Given the description of an element on the screen output the (x, y) to click on. 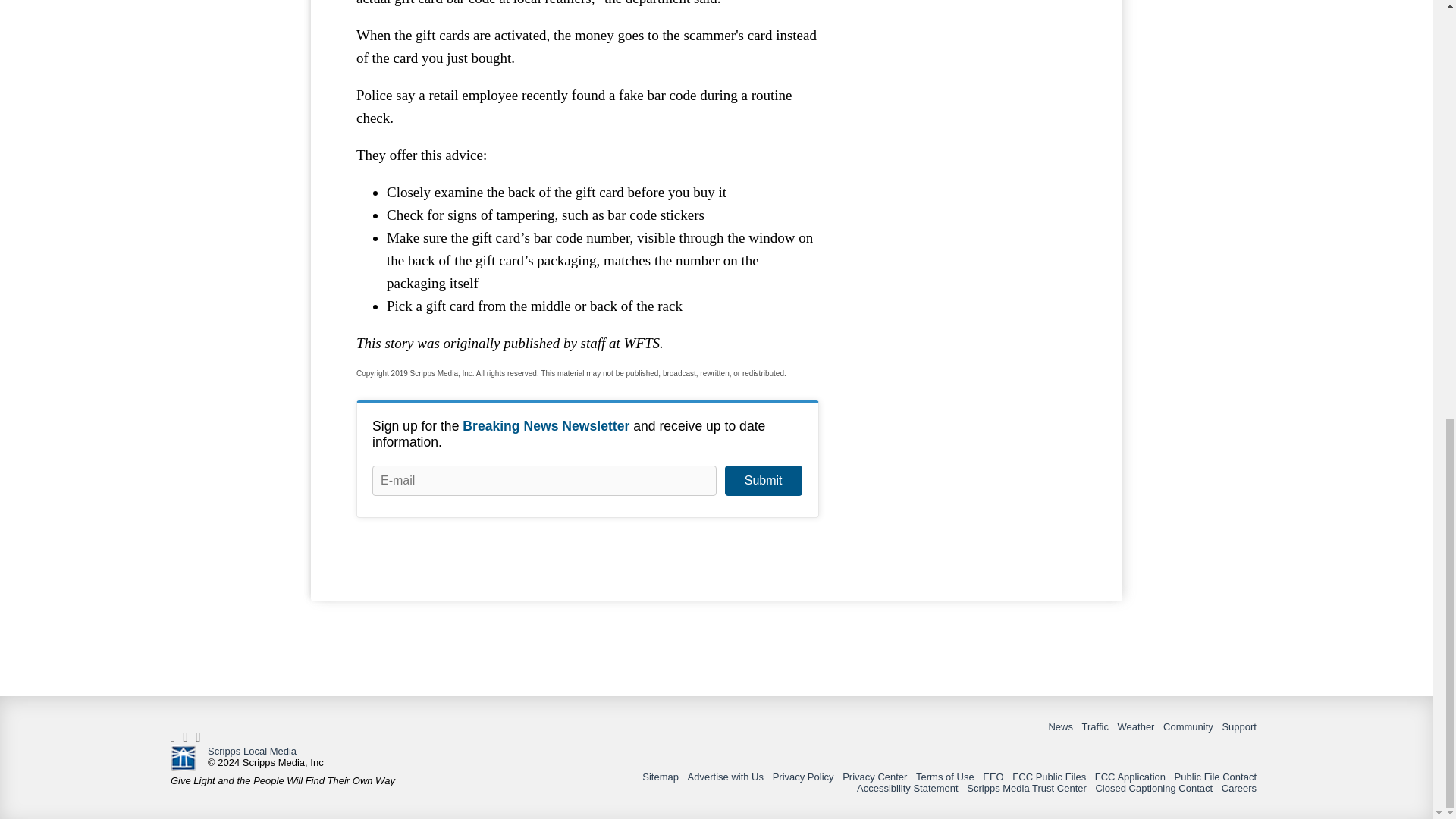
Submit (763, 481)
